Given the description of an element on the screen output the (x, y) to click on. 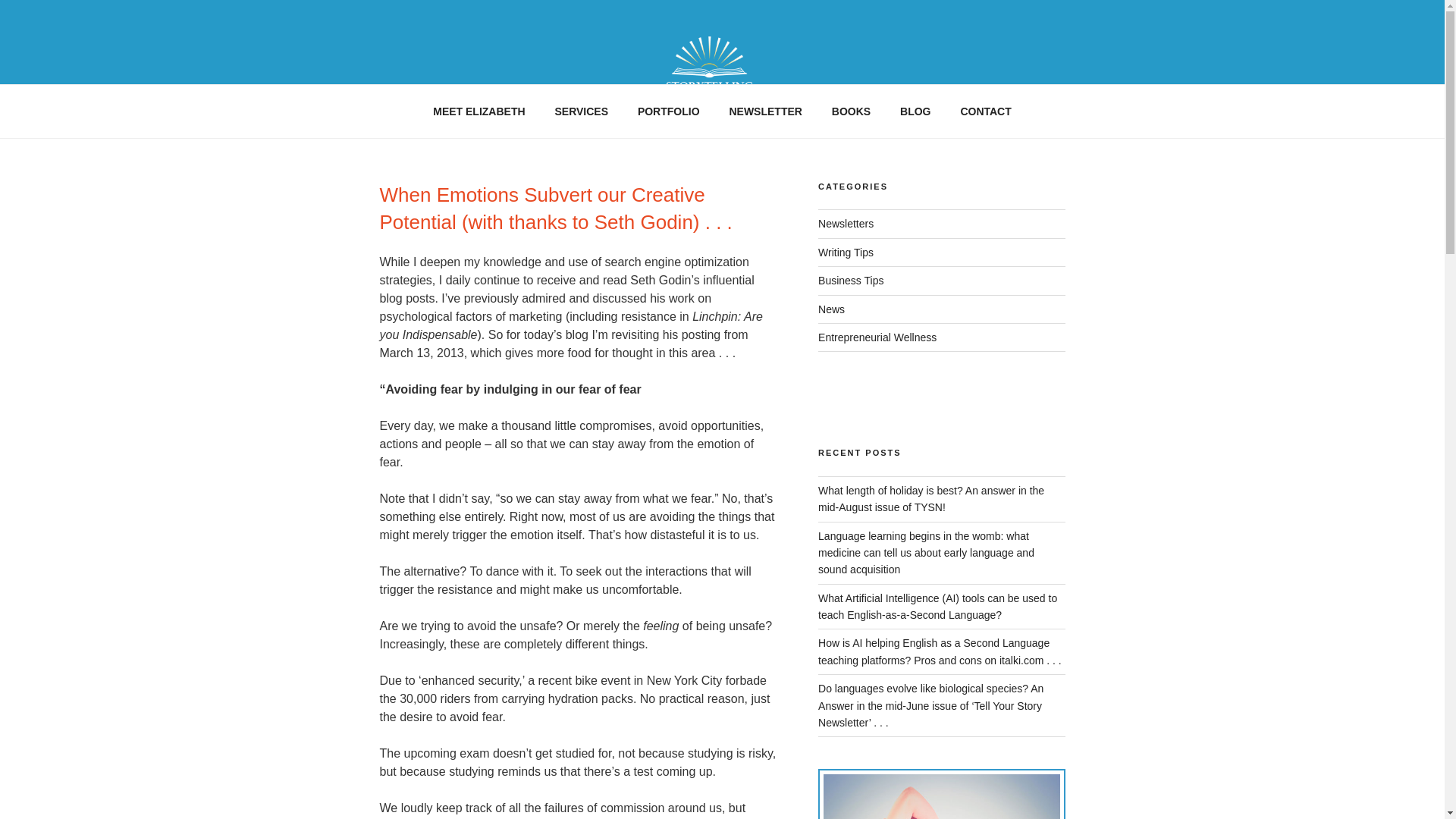
BOOKS (850, 110)
SERVICES (581, 110)
NEWSLETTER (765, 110)
CONTACT (986, 110)
Writing Tips (845, 252)
BLOG (914, 110)
Business Tips (850, 280)
PORTFOLIO (668, 110)
